Given the description of an element on the screen output the (x, y) to click on. 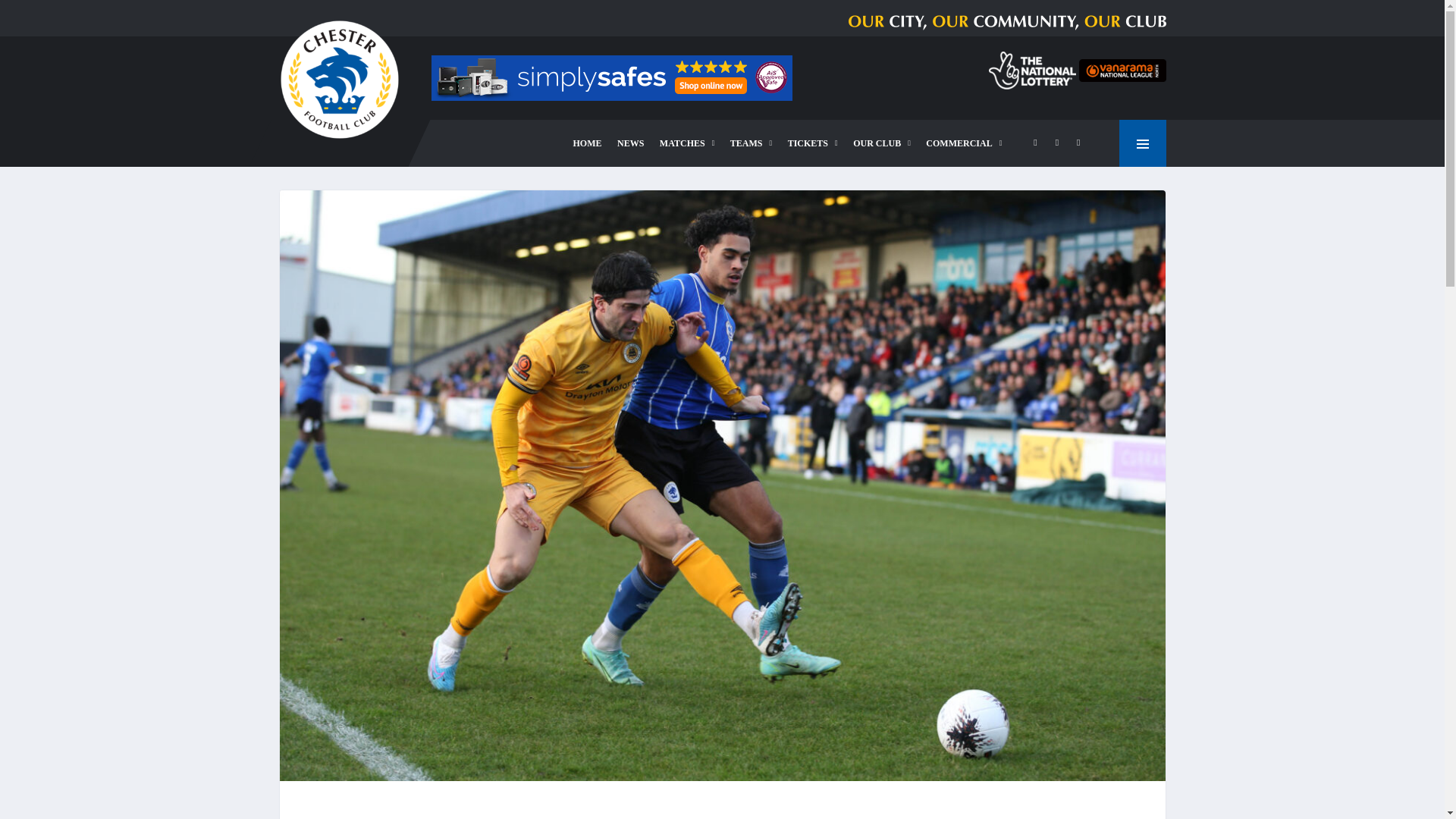
OUR CLUB (882, 143)
TEAMS (750, 143)
NEWS (630, 143)
MATCHES (686, 143)
HOME (587, 143)
TICKETS (812, 143)
